Given the description of an element on the screen output the (x, y) to click on. 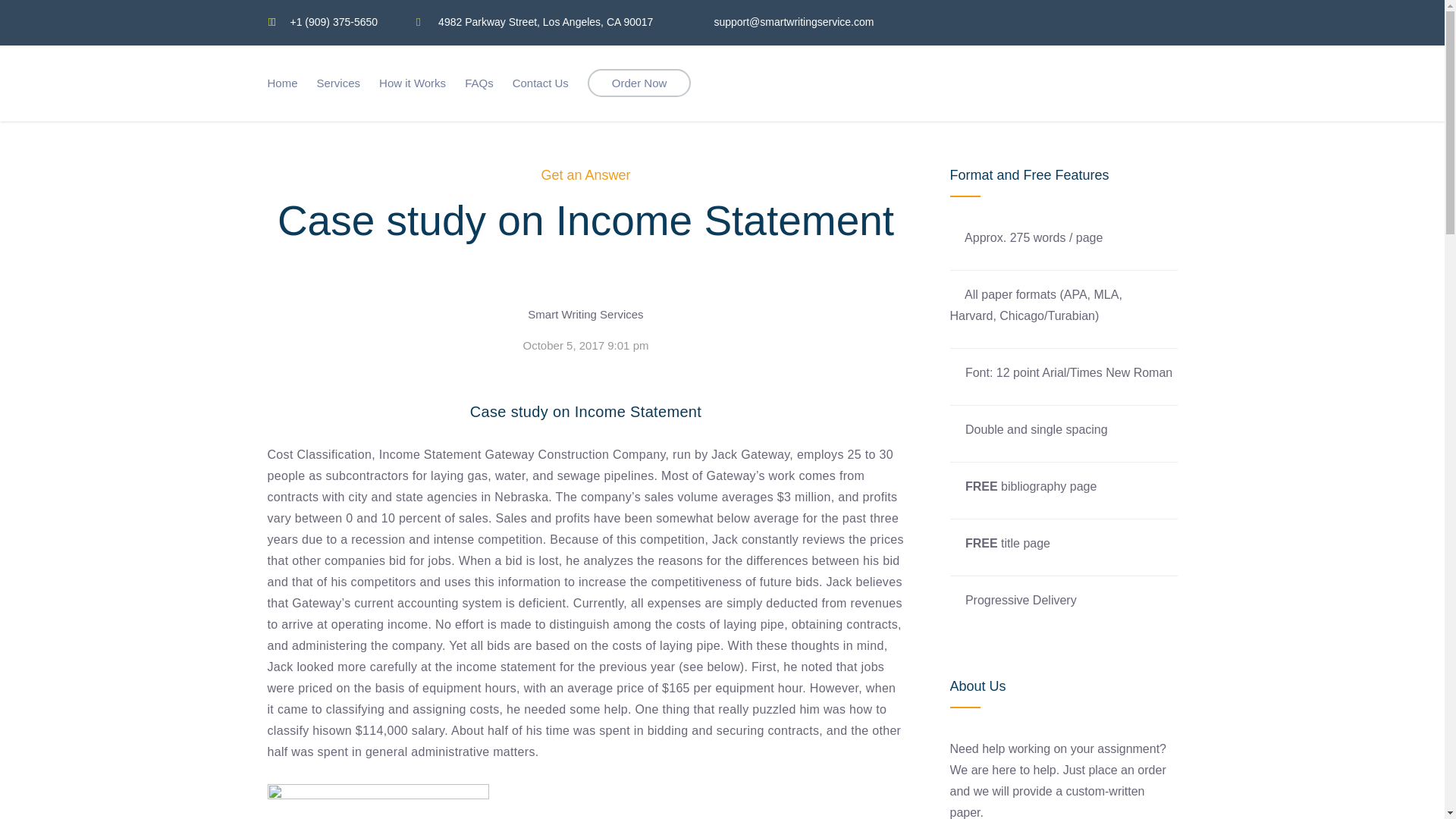
View all posts by Smart Writing Services (585, 314)
Order Now (639, 82)
Smart Writing Services (585, 314)
Get an Answer (585, 174)
